Given the description of an element on the screen output the (x, y) to click on. 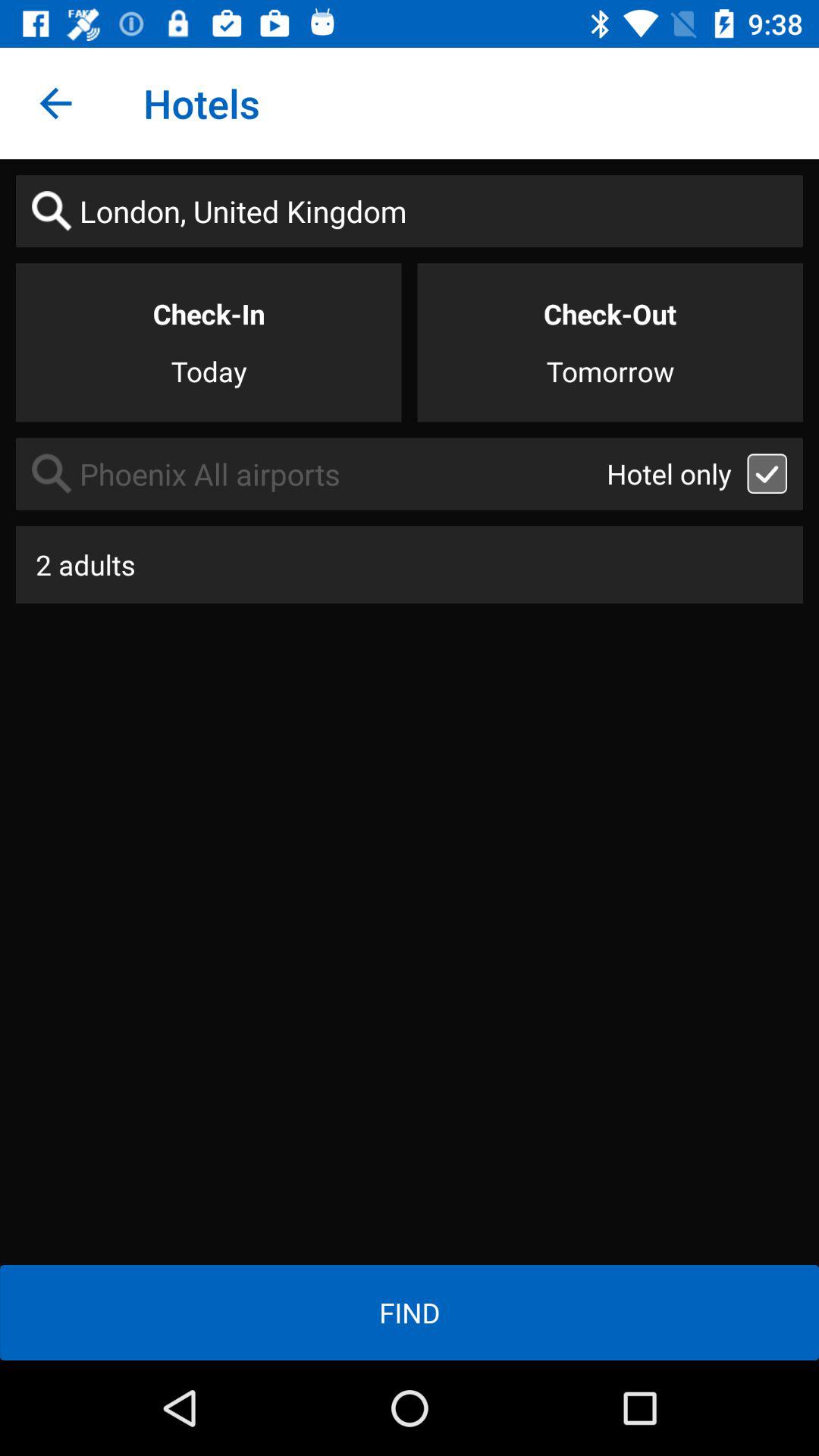
tap 2 adults (409, 564)
